Given the description of an element on the screen output the (x, y) to click on. 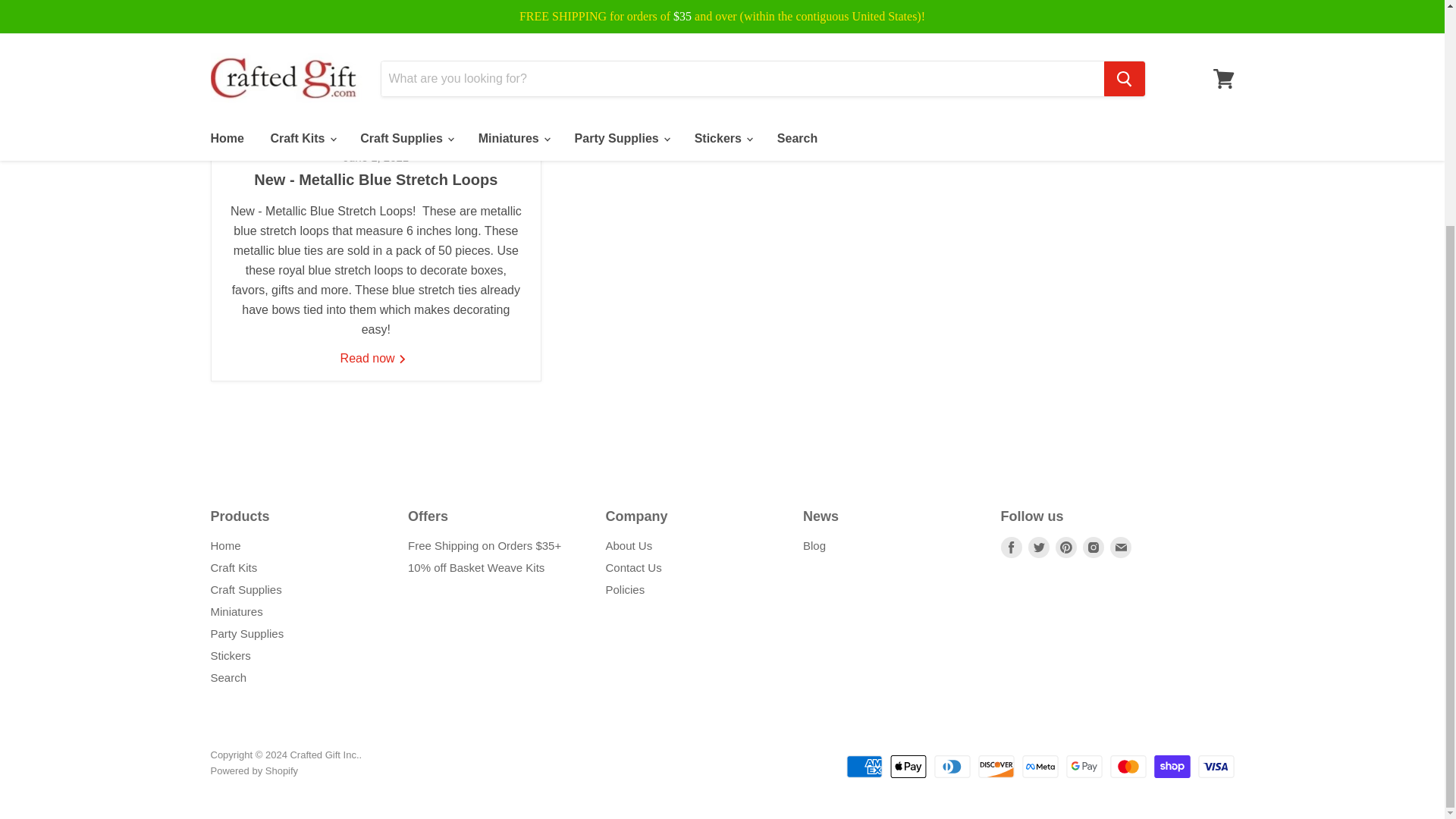
American Express (863, 766)
Meta Pay (1040, 766)
E-mail (1120, 547)
Apple Pay (907, 766)
Instagram (1093, 547)
Twitter (1038, 547)
Diners Club (952, 766)
Discover (996, 766)
Facebook (1011, 547)
Pinterest (1066, 547)
Google Pay (1083, 766)
